Given the description of an element on the screen output the (x, y) to click on. 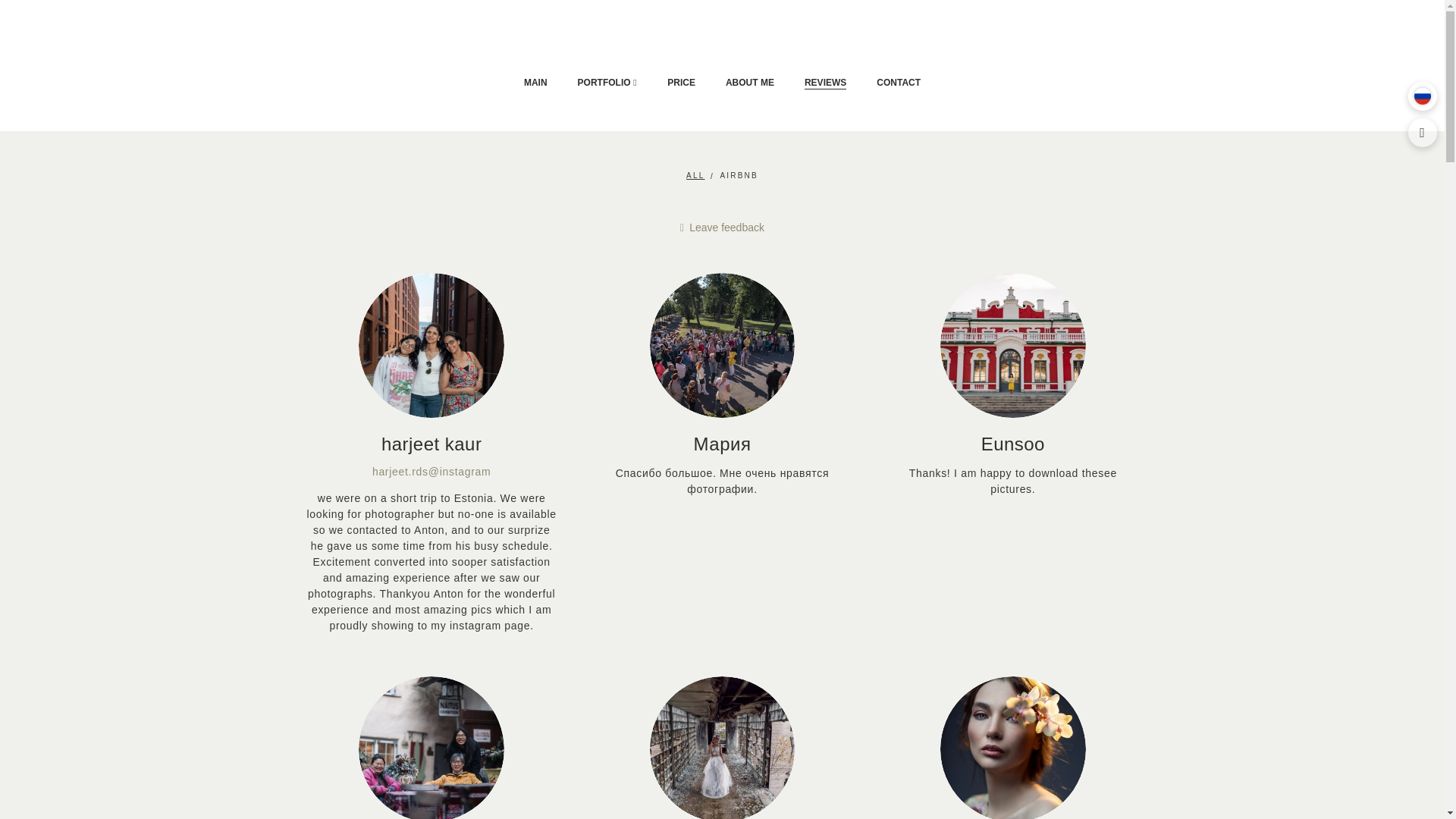
Leave feedback (722, 227)
PRICE (680, 81)
ALL (694, 175)
airbnb (738, 175)
REVIEWS (825, 81)
MAIN (535, 81)
AIRBNB (738, 175)
ABOUT ME (749, 81)
CONTACT (898, 81)
